Given the description of an element on the screen output the (x, y) to click on. 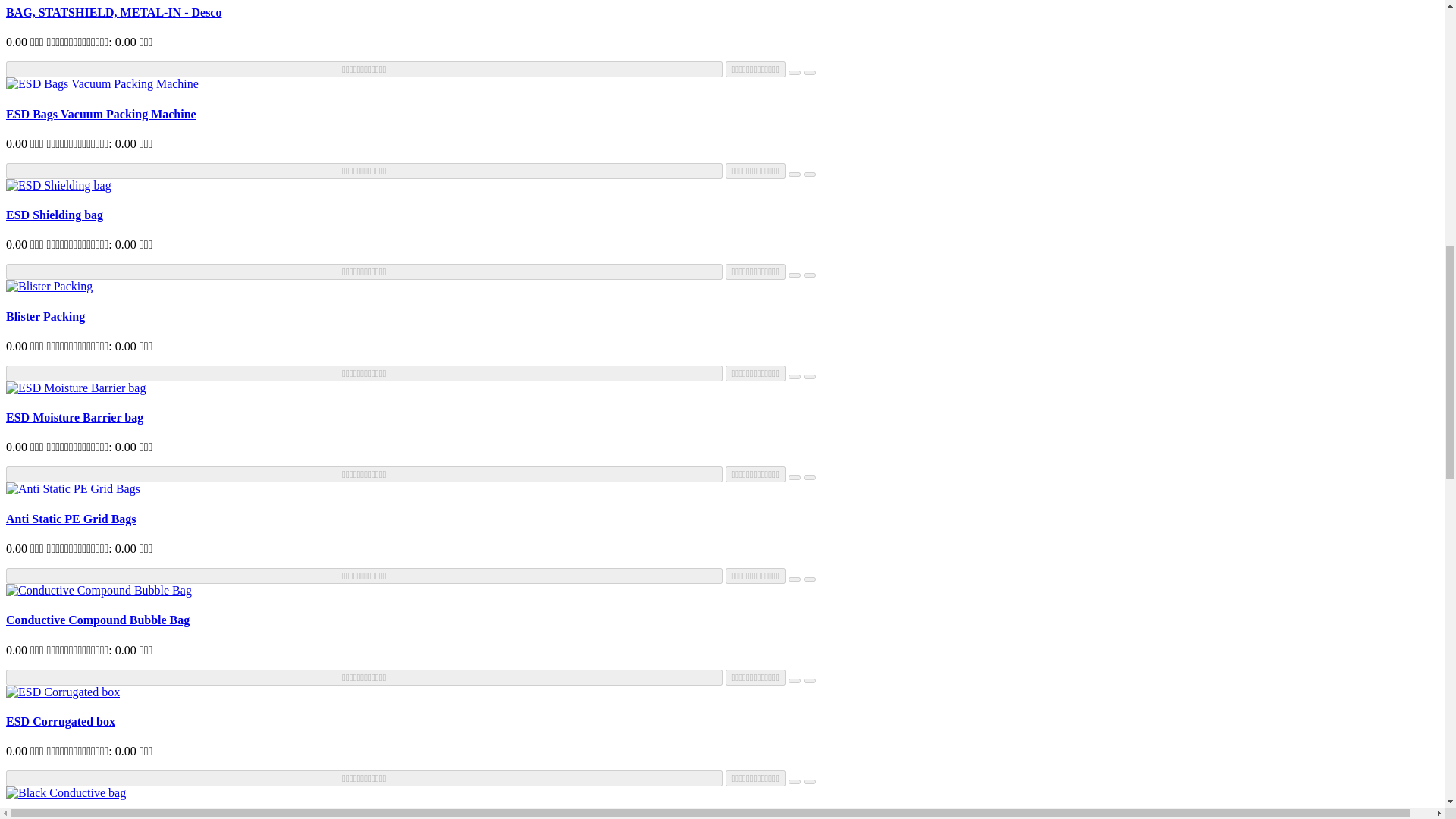
ESD Bags Vacuum Packing Machine (101, 83)
ESD Shielding bag (58, 185)
